Given the description of an element on the screen output the (x, y) to click on. 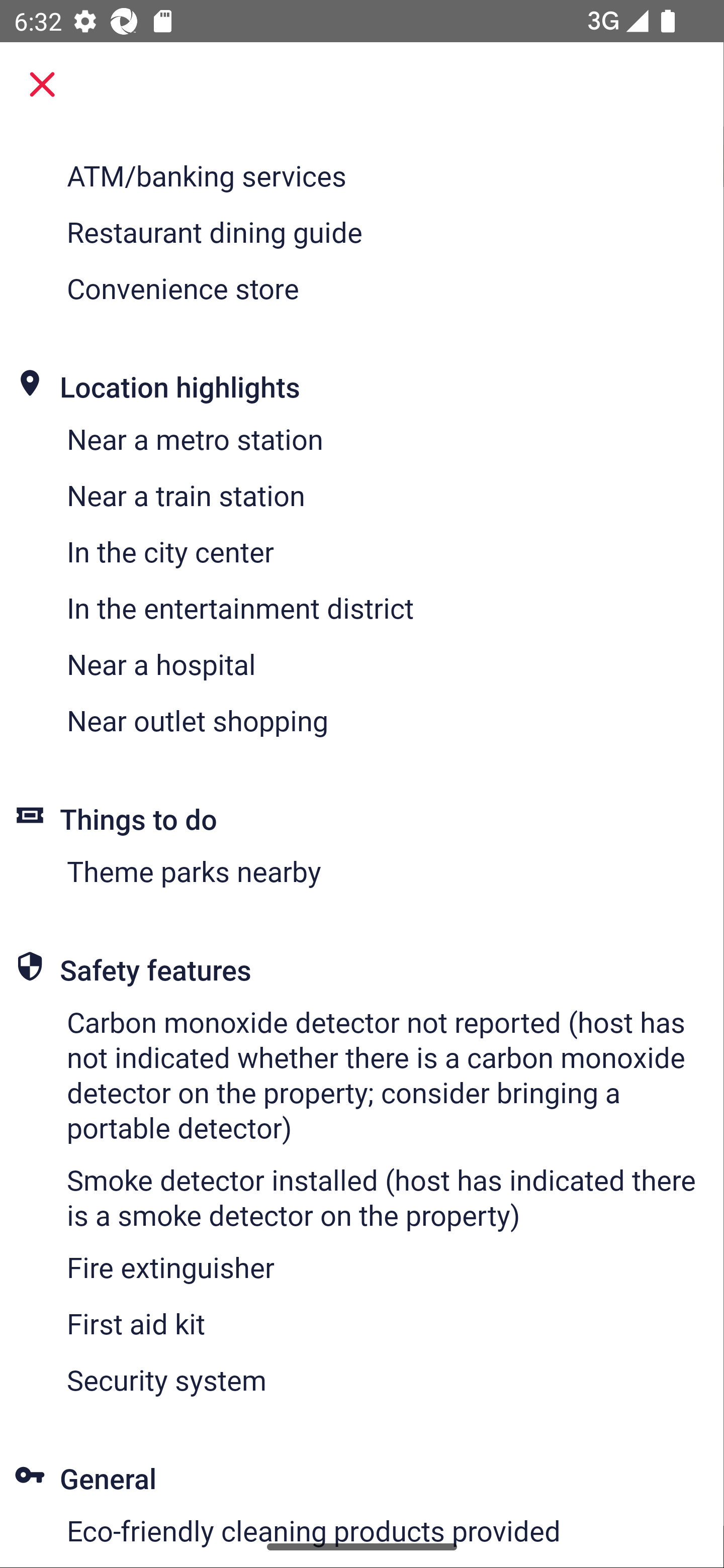
Close (42, 84)
